Given the description of an element on the screen output the (x, y) to click on. 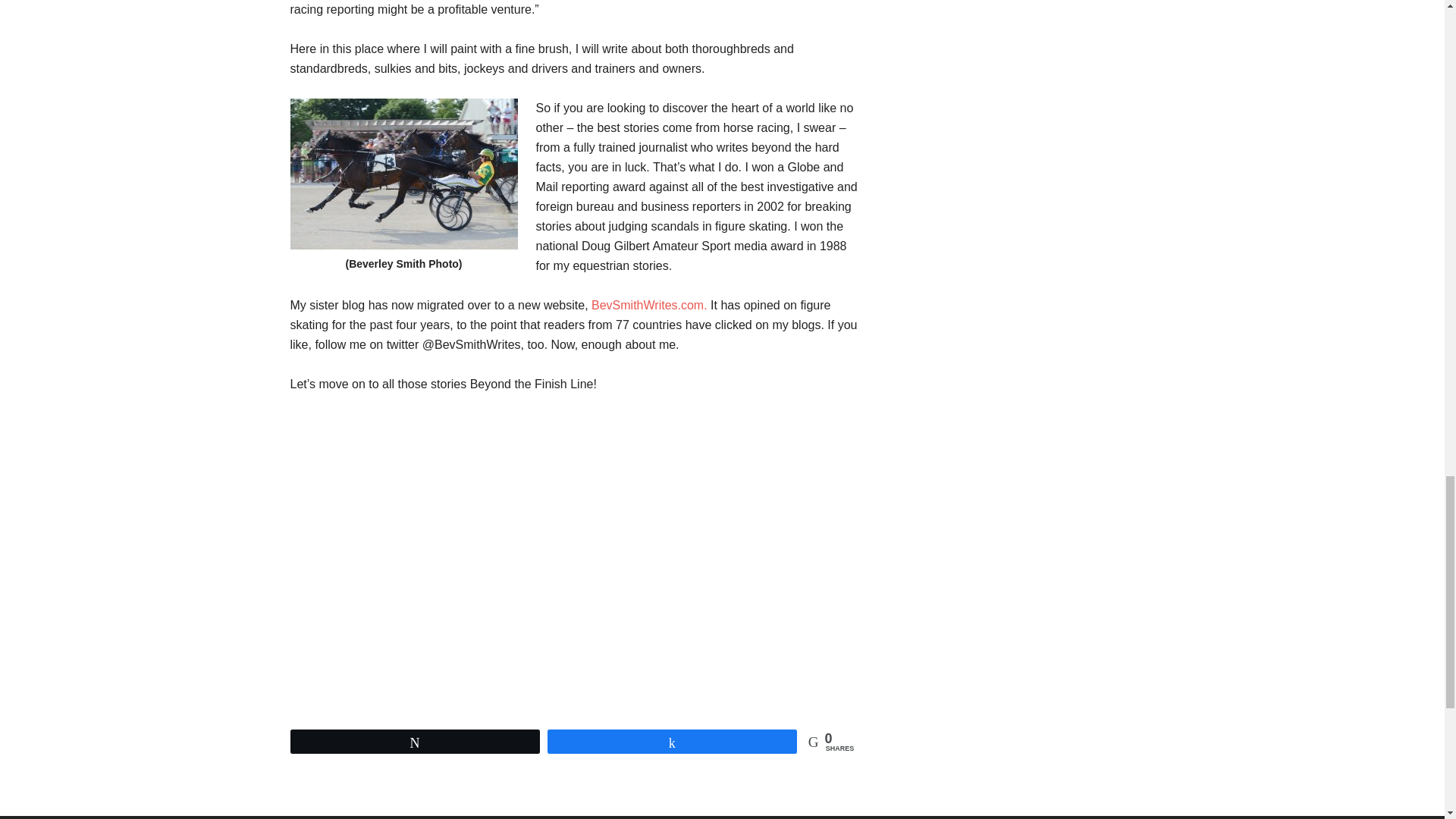
BevSmithWrites.com. (649, 305)
